Given the description of an element on the screen output the (x, y) to click on. 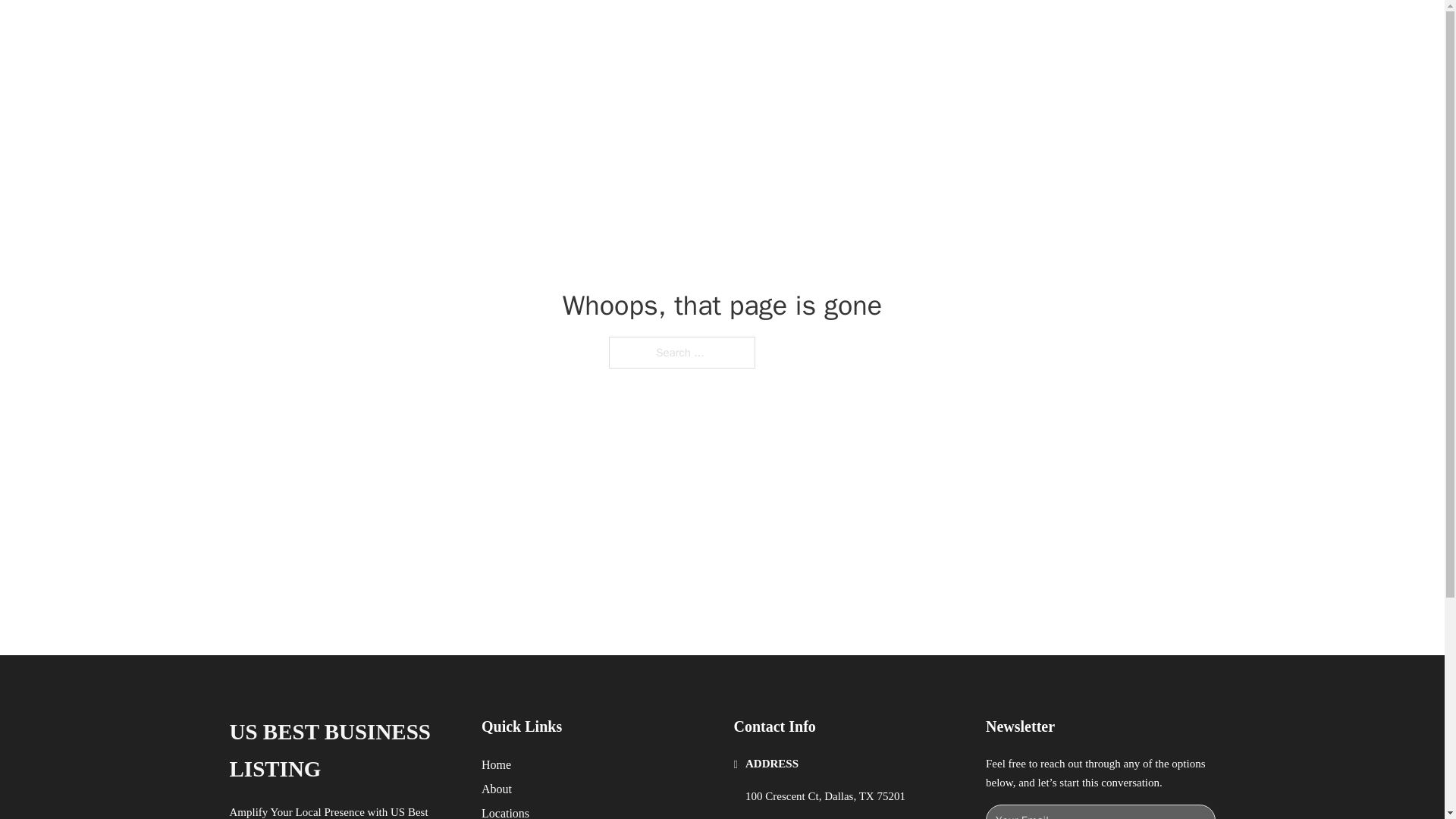
US BEST BUSINESS LISTING (448, 28)
About (496, 788)
US BEST BUSINESS LISTING (343, 750)
Locations (505, 811)
HOME (919, 29)
LOCATIONS (990, 29)
Home (496, 764)
